Given the description of an element on the screen output the (x, y) to click on. 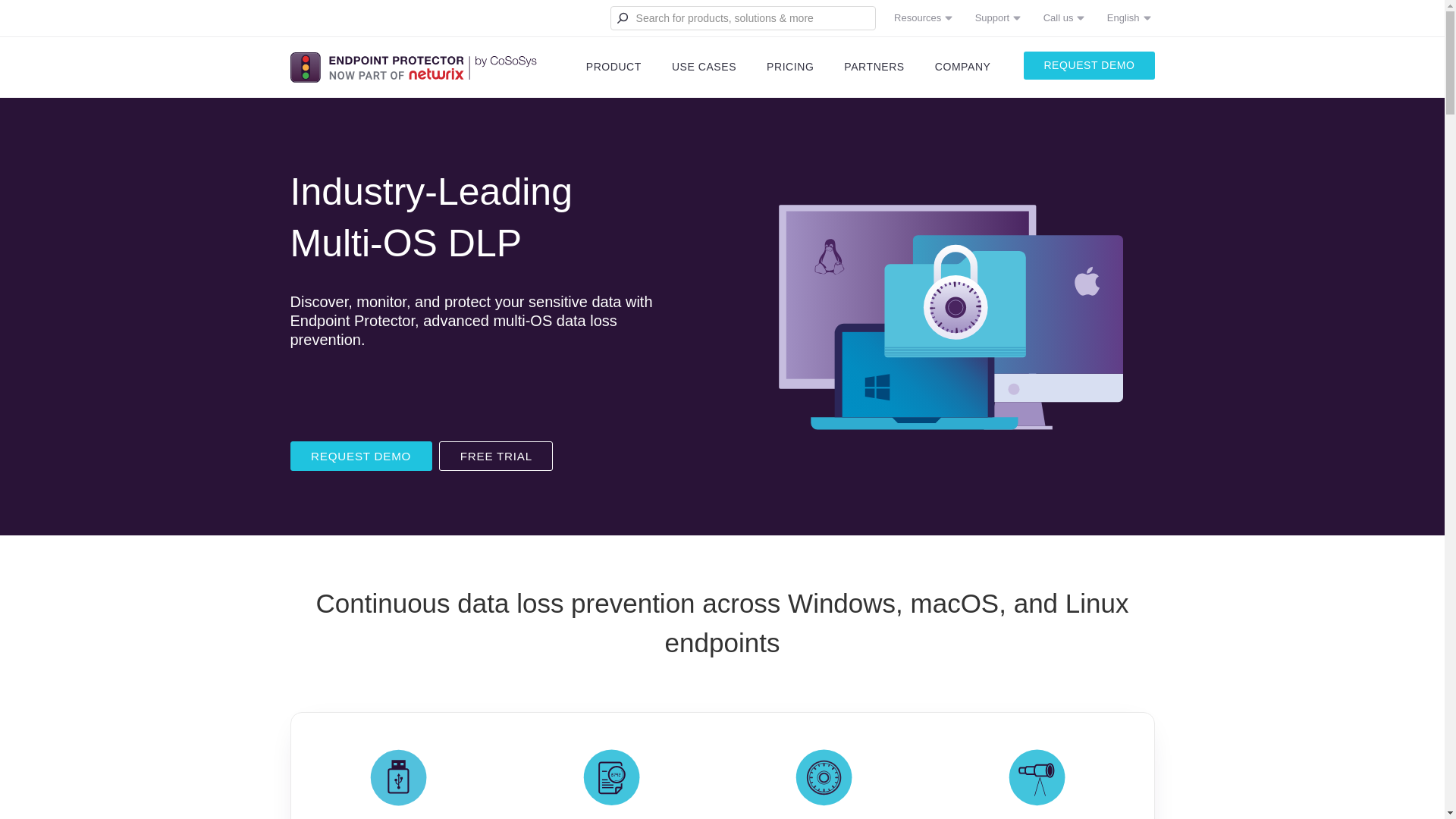
PRODUCT (613, 66)
device-control-color (397, 777)
Resources (917, 18)
Call us (1058, 18)
Support (992, 18)
English (1123, 18)
USE CASES (703, 66)
